Given the description of an element on the screen output the (x, y) to click on. 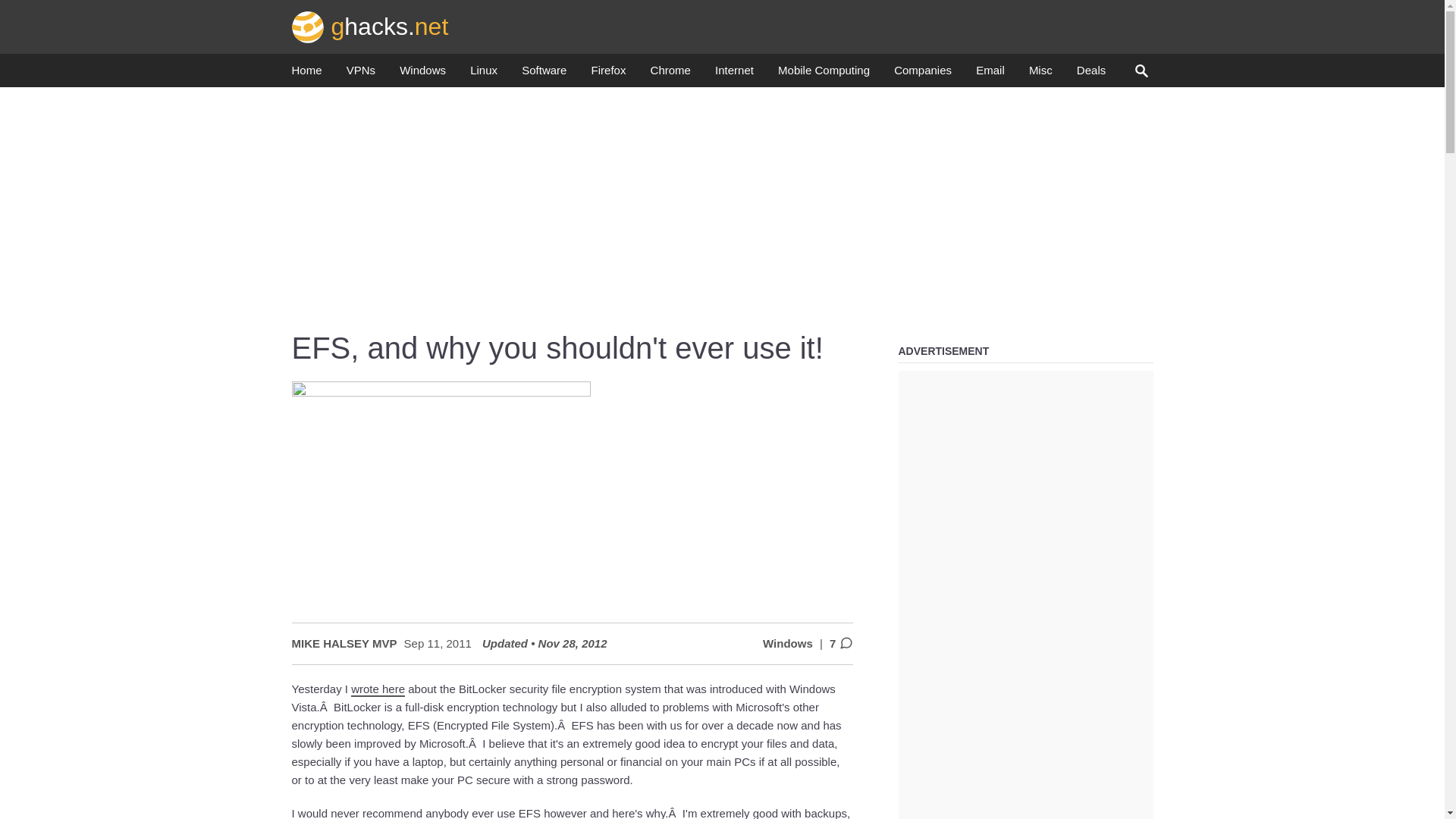
Software (543, 73)
ghacks.net (369, 26)
Mobile Computing (823, 73)
Linux (483, 73)
Firefox (608, 73)
Email (989, 73)
Misc (1040, 73)
VPNs (360, 73)
Chrome (670, 73)
Windows (421, 73)
